Given the description of an element on the screen output the (x, y) to click on. 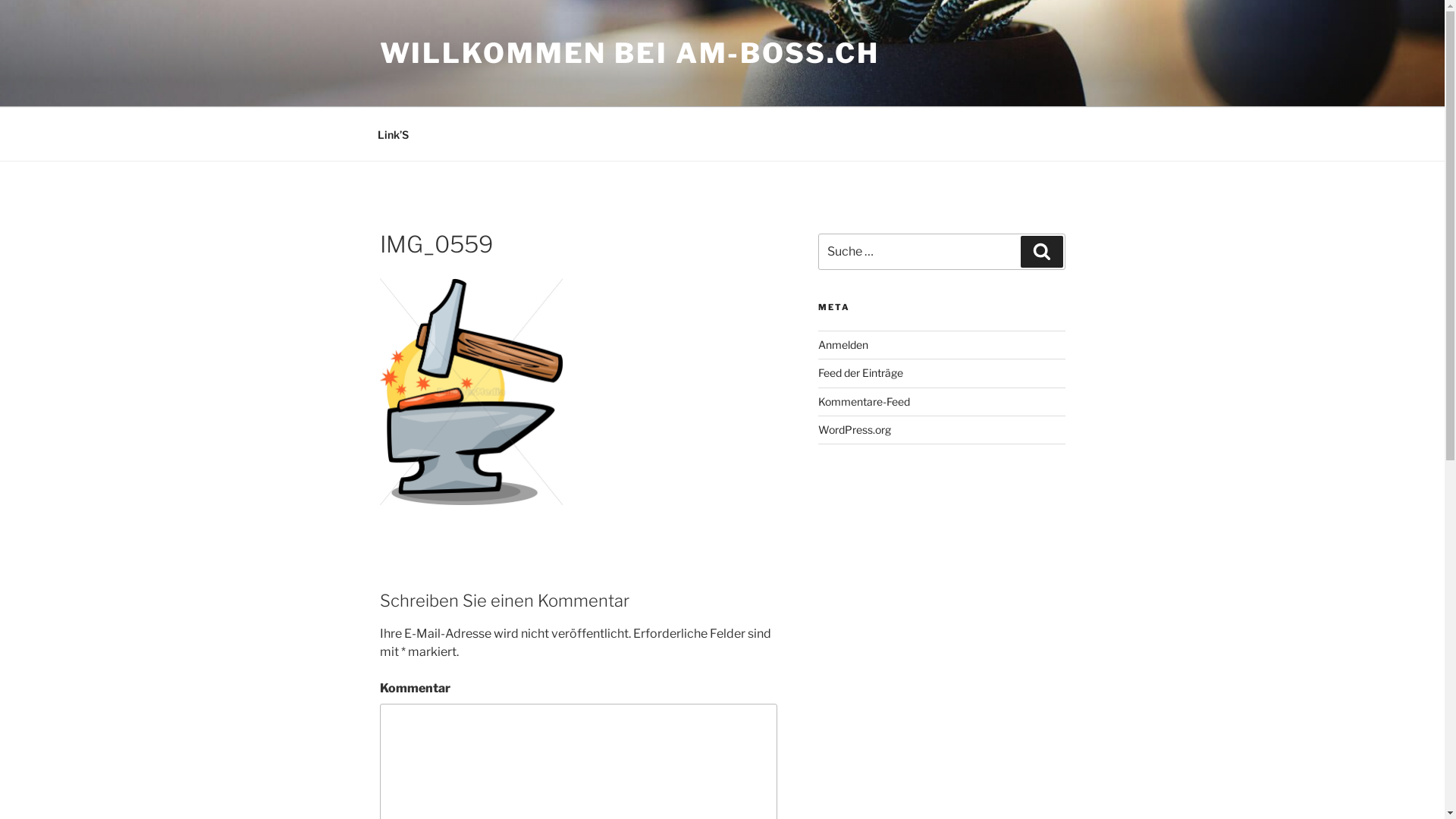
WILLKOMMEN BEI AM-BOSS.CH Element type: text (628, 52)
Anmelden Element type: text (843, 344)
Kommentare-Feed Element type: text (864, 401)
Suche Element type: text (1041, 251)
WordPress.org Element type: text (854, 429)
